Given the description of an element on the screen output the (x, y) to click on. 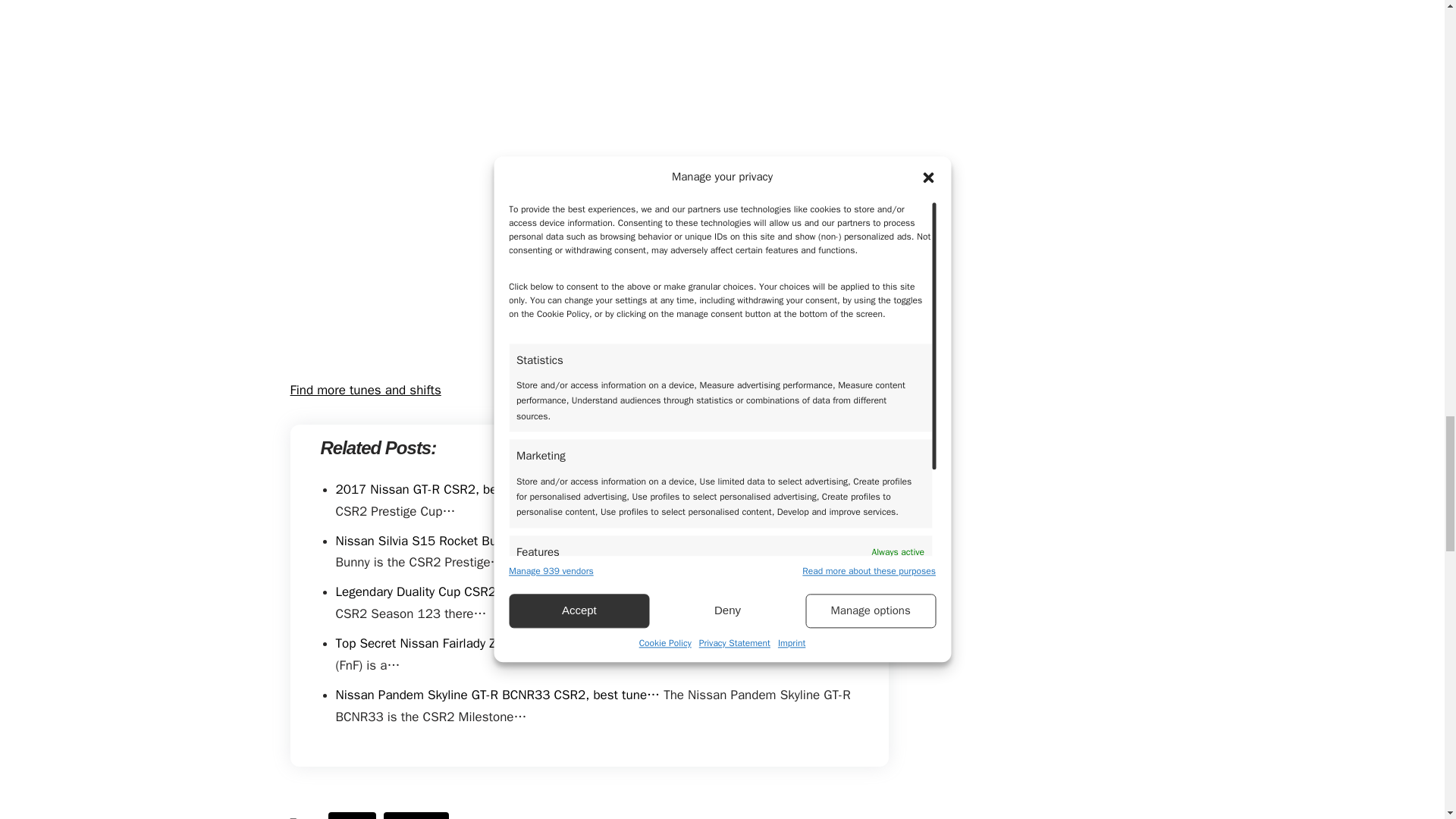
Season 95 (416, 815)
Nissan (352, 815)
